Given the description of an element on the screen output the (x, y) to click on. 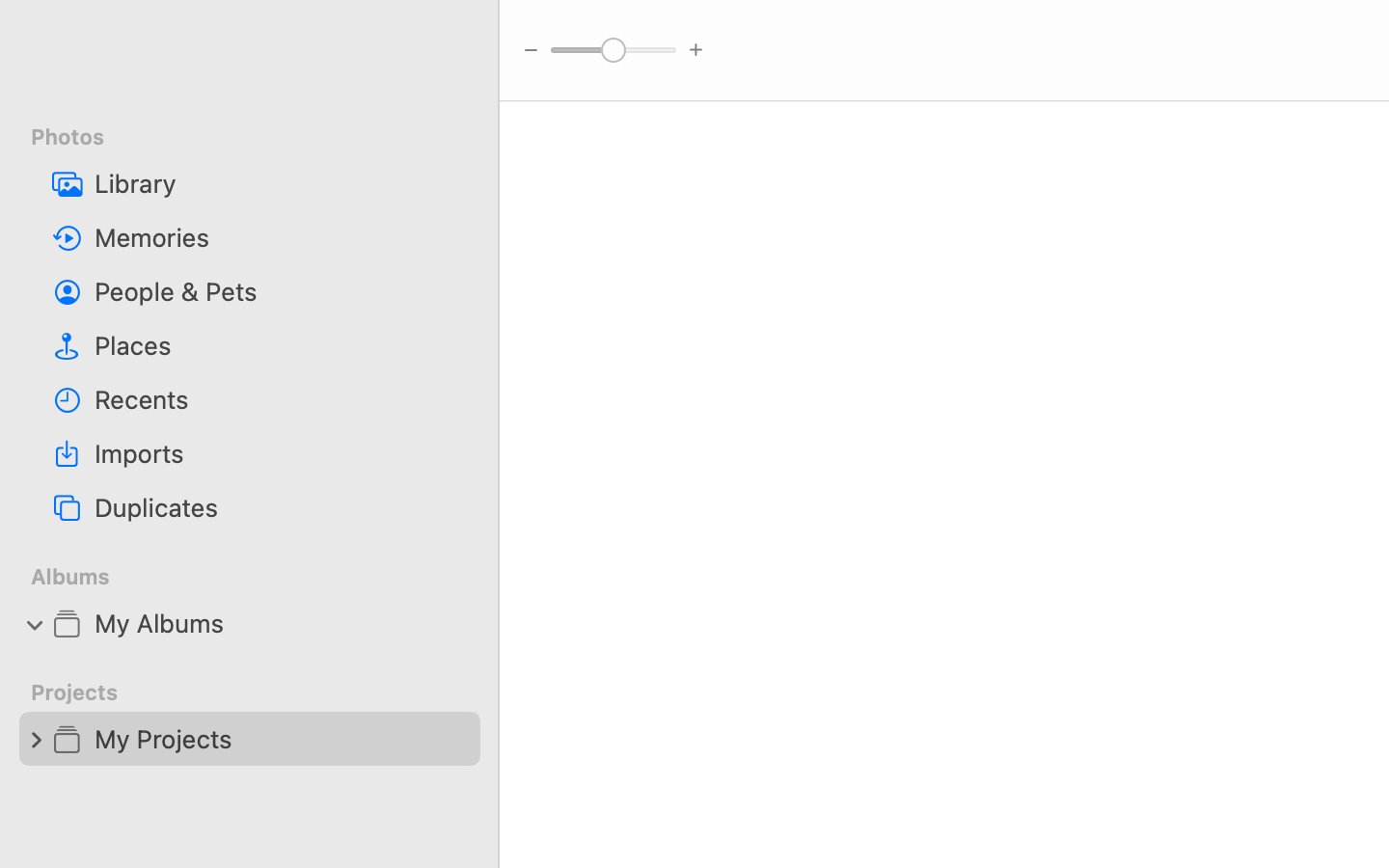
My Projects Element type: AXStaticText (279, 738)
People & Pets Element type: AXStaticText (279, 290)
5.0 Element type: AXSlider (612, 48)
Projects Element type: AXStaticText (261, 691)
Albums Element type: AXStaticText (261, 576)
